Given the description of an element on the screen output the (x, y) to click on. 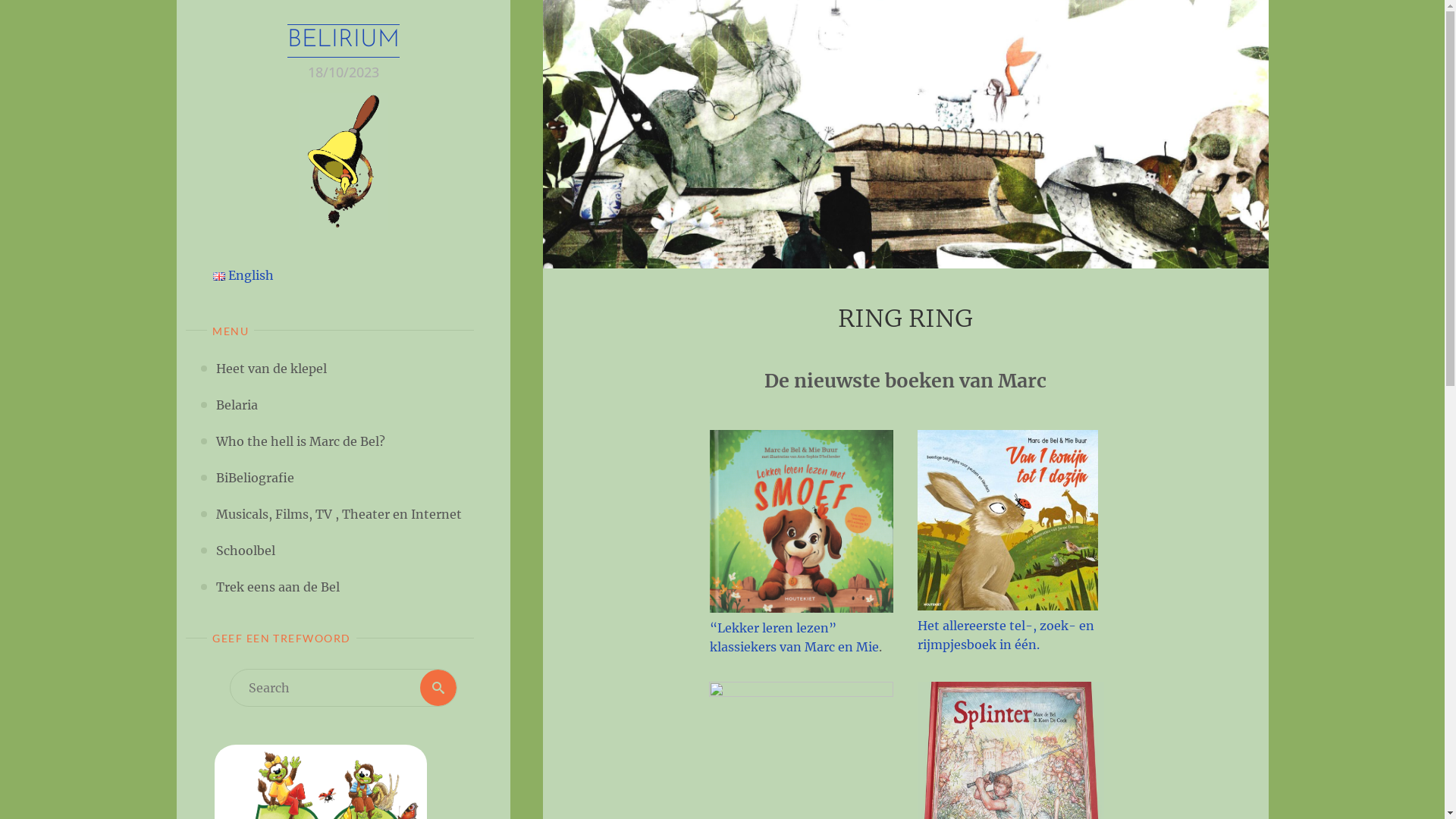
Belaria Element type: text (236, 404)
Trek eens aan de Bel Element type: text (277, 586)
BELIRIUM Element type: text (342, 40)
English Element type: text (242, 274)
Schoolbel Element type: text (245, 550)
BiBeliografie Element type: text (255, 477)
Search Element type: text (438, 687)
Who the hell is Marc de Bel? Element type: text (300, 441)
Musicals, Films, TV , Theater en Internet Element type: text (338, 513)
Heet van de klepel Element type: text (271, 368)
RING RING Element type: hover (905, 134)
